Given the description of an element on the screen output the (x, y) to click on. 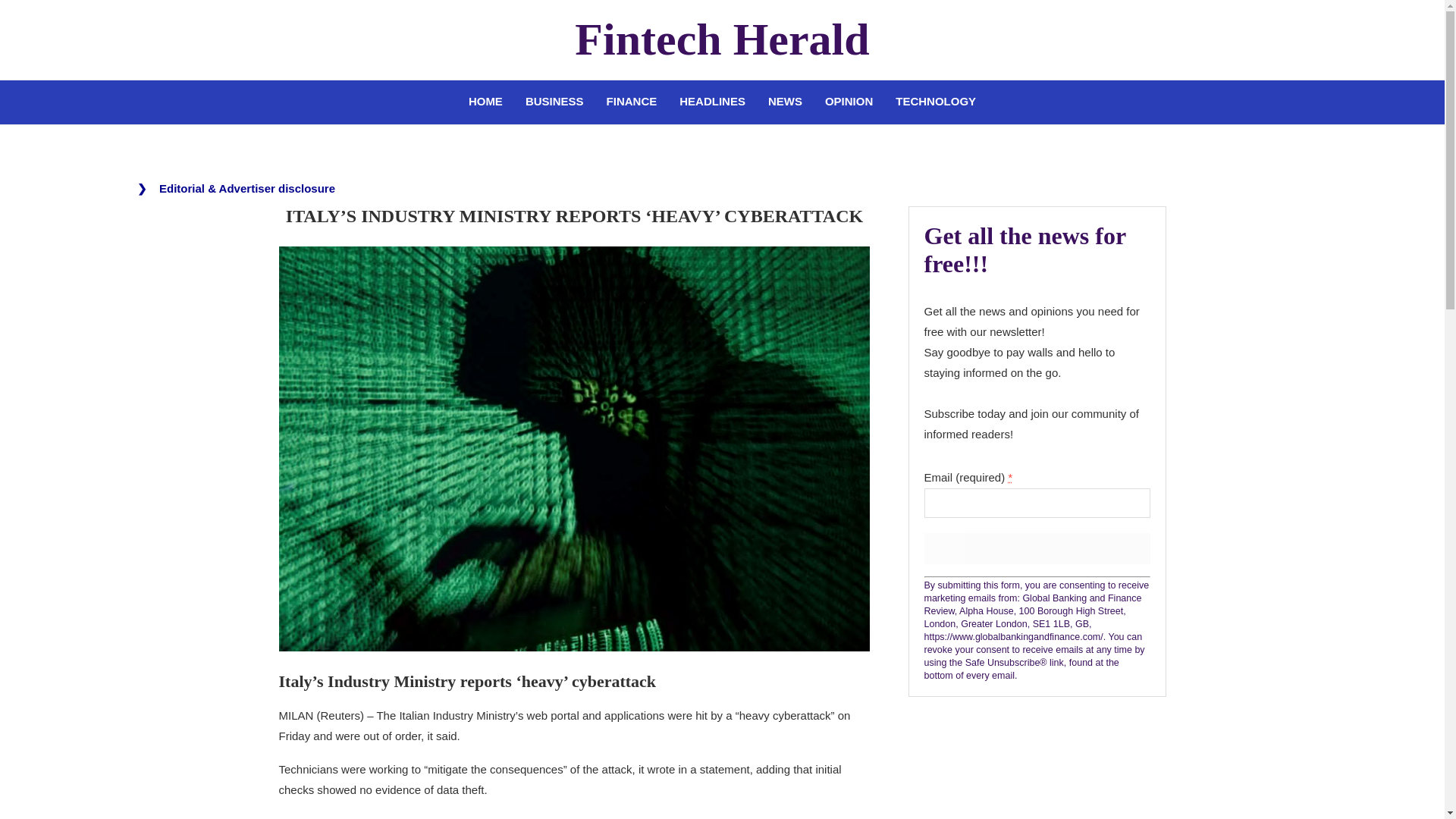
BUSINESS (554, 102)
TECHNOLOGY (935, 102)
NEWS (785, 102)
OPINION (848, 102)
HEADLINES (712, 102)
HOME (485, 102)
Sign up! (1036, 548)
FINANCE (631, 102)
Sign up! (1036, 548)
